Given the description of an element on the screen output the (x, y) to click on. 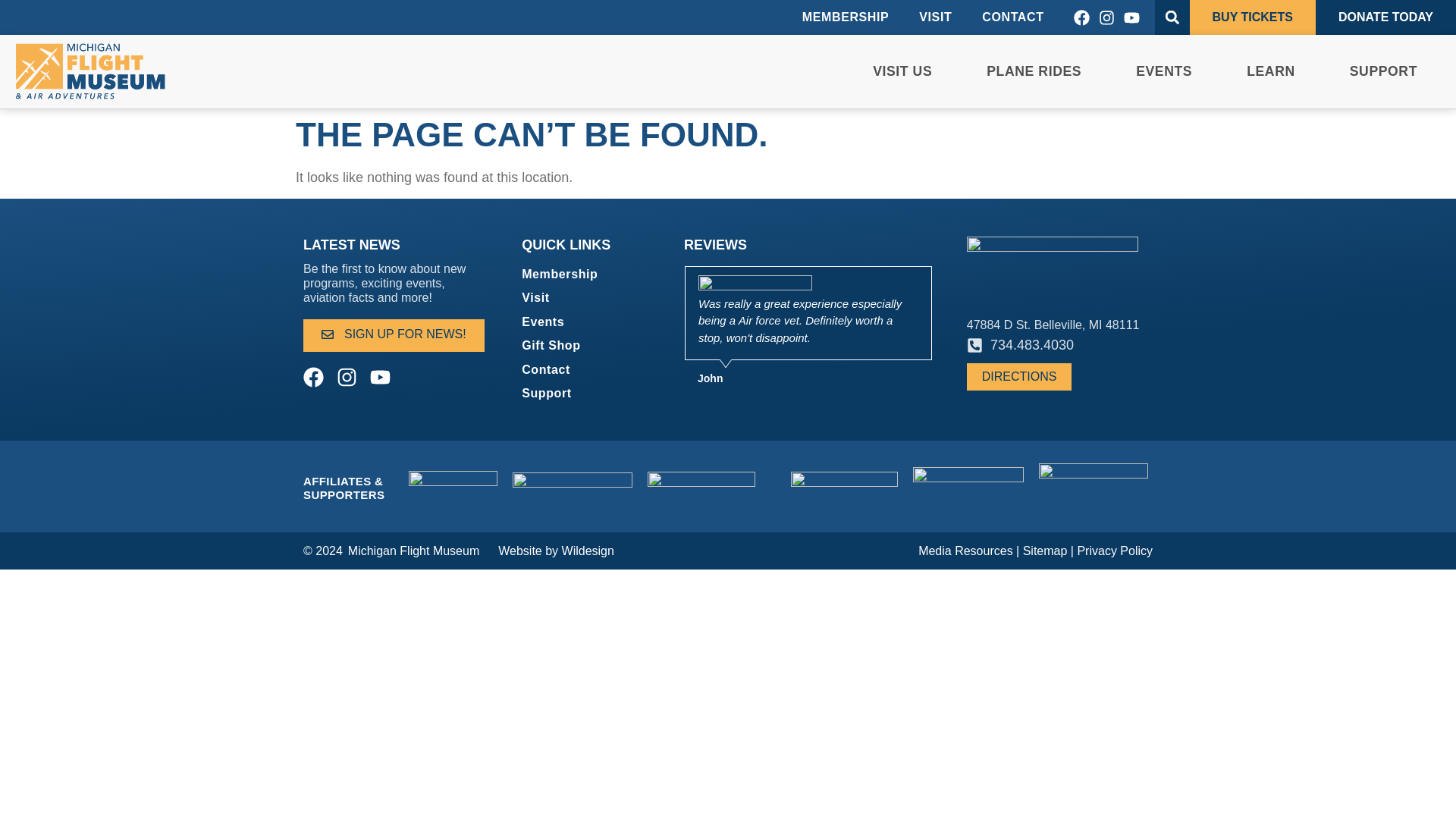
SUPPORT (1383, 71)
PLANE RIDES (1033, 71)
VISIT US (902, 71)
LEARN (1271, 71)
VISIT (935, 17)
EVENTS (1164, 71)
CONTACT (1012, 17)
BUY TICKETS (1252, 17)
MEMBERSHIP (845, 17)
